Given the description of an element on the screen output the (x, y) to click on. 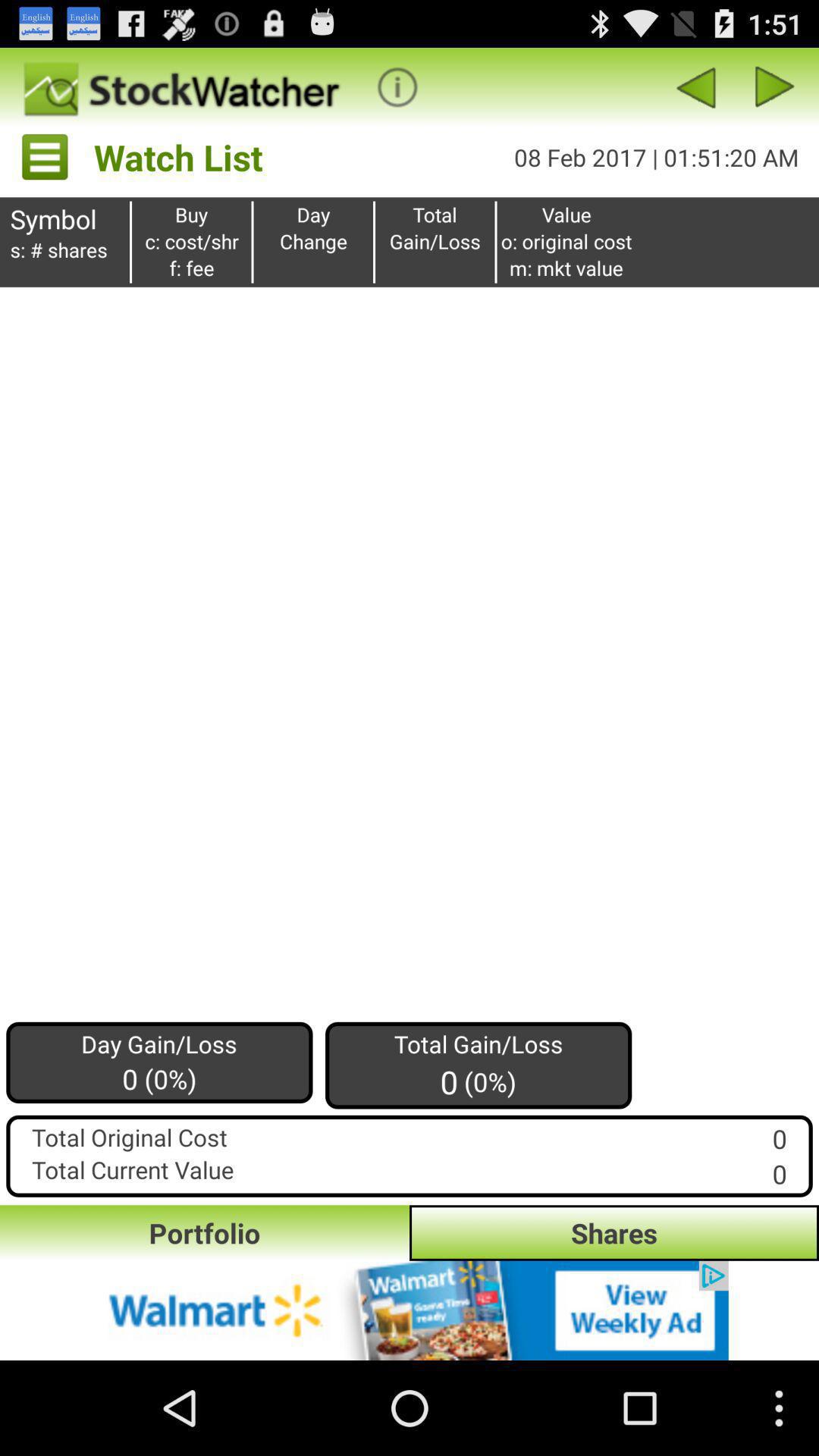
click to the next (775, 87)
